Given the description of an element on the screen output the (x, y) to click on. 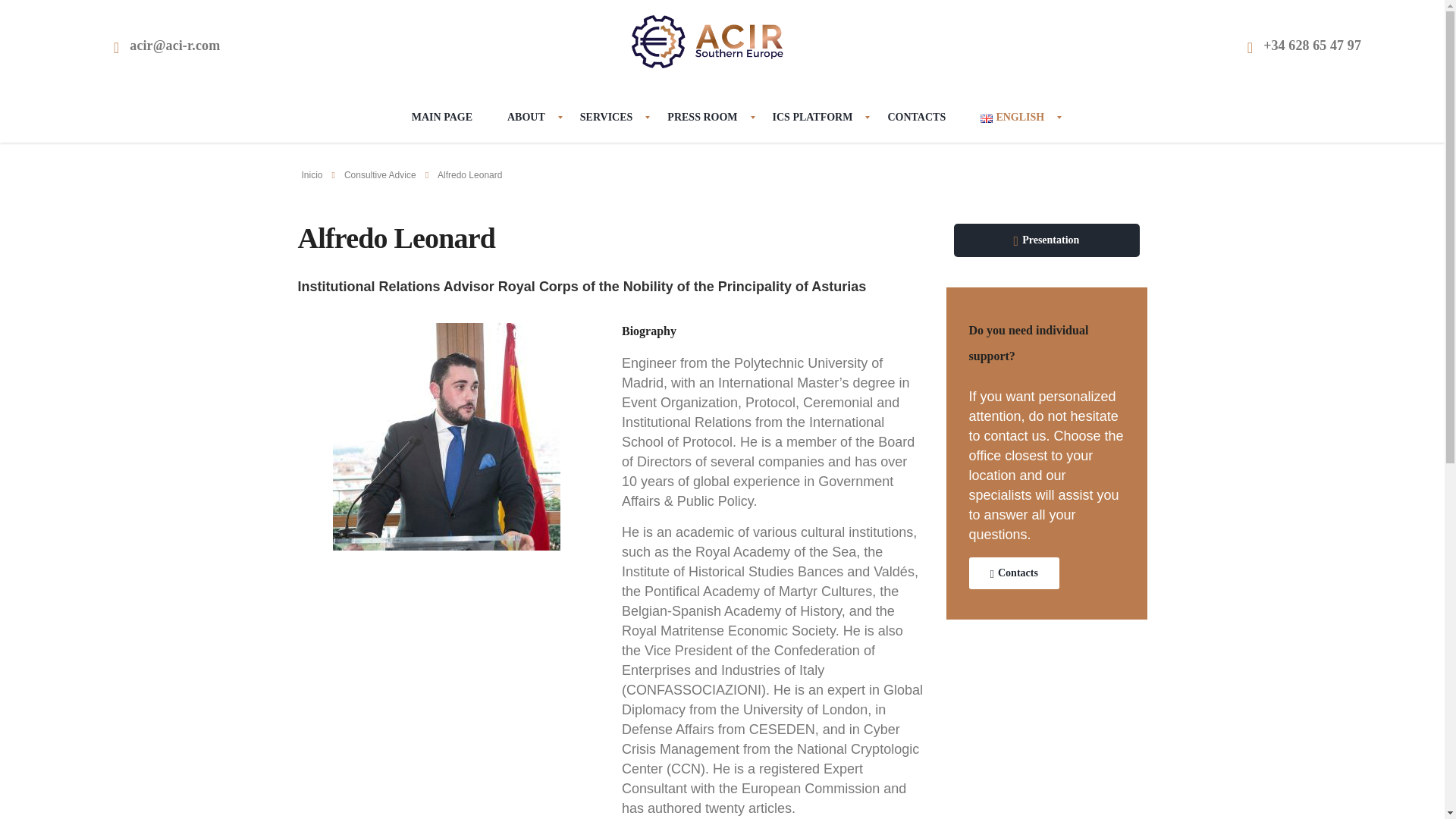
SERVICES (606, 116)
CONTACTS (915, 116)
Go to the Consultive Advice Categories archives. (379, 174)
acir southern europe (707, 40)
ABOUT (525, 116)
MAIN PAGE (441, 116)
PRESS ROOM (701, 116)
ICS PLATFORM (812, 116)
Go to ACIR Southern Europe. (312, 174)
